Given the description of an element on the screen output the (x, y) to click on. 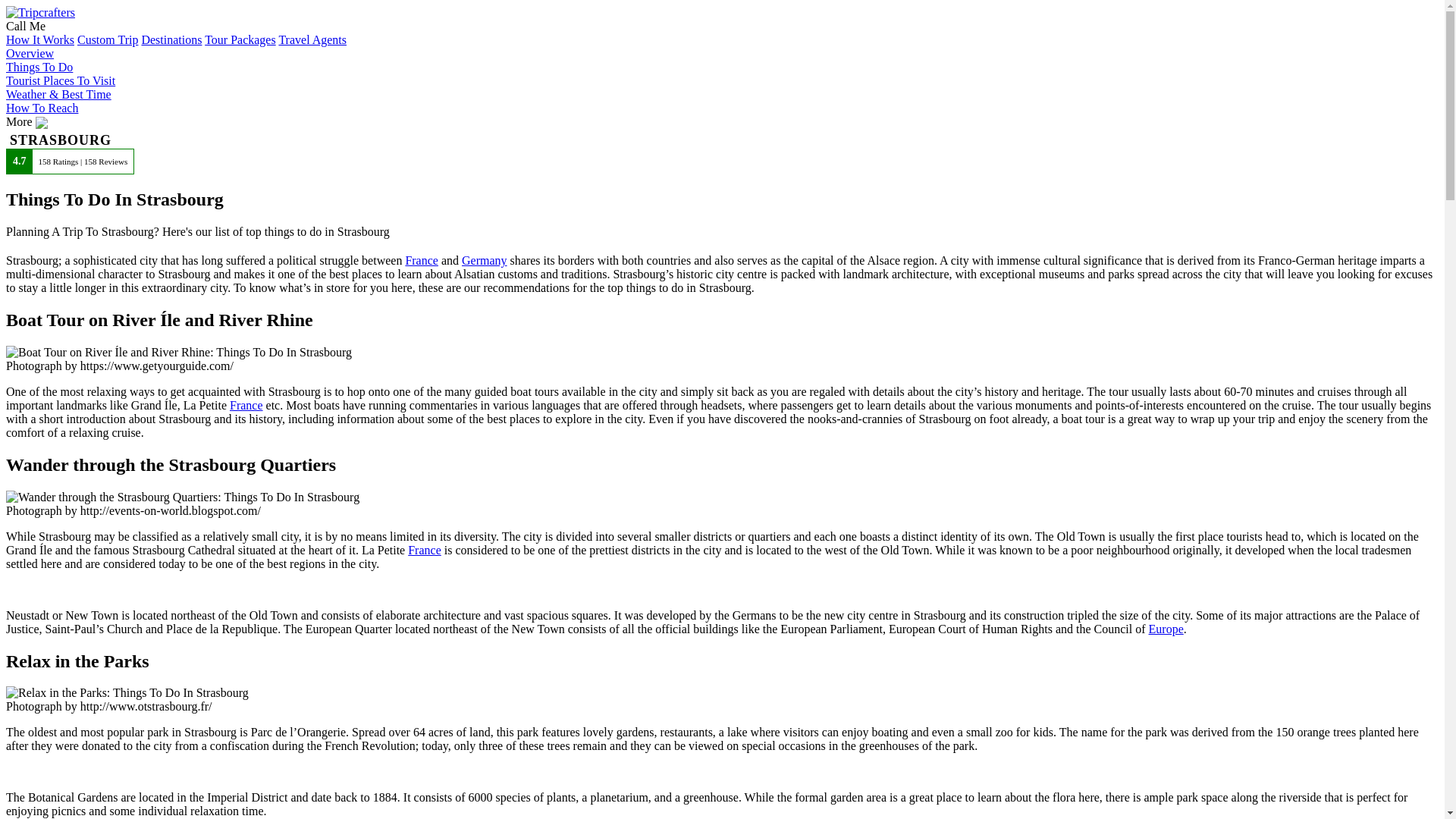
France (246, 404)
Strasbourg Weather And Best Time To Visit Strasbourg (58, 93)
Travel Agents (312, 39)
More (26, 121)
Overview (29, 52)
Call Me (25, 25)
Destinations (171, 39)
TripCrafters.com (40, 12)
How To Reach (41, 107)
Strasbourg Tourism And Travel Guide (29, 52)
Germany (483, 259)
Tourist Places To Visit (60, 80)
Travel Destinations (171, 39)
France (421, 259)
